Given the description of an element on the screen output the (x, y) to click on. 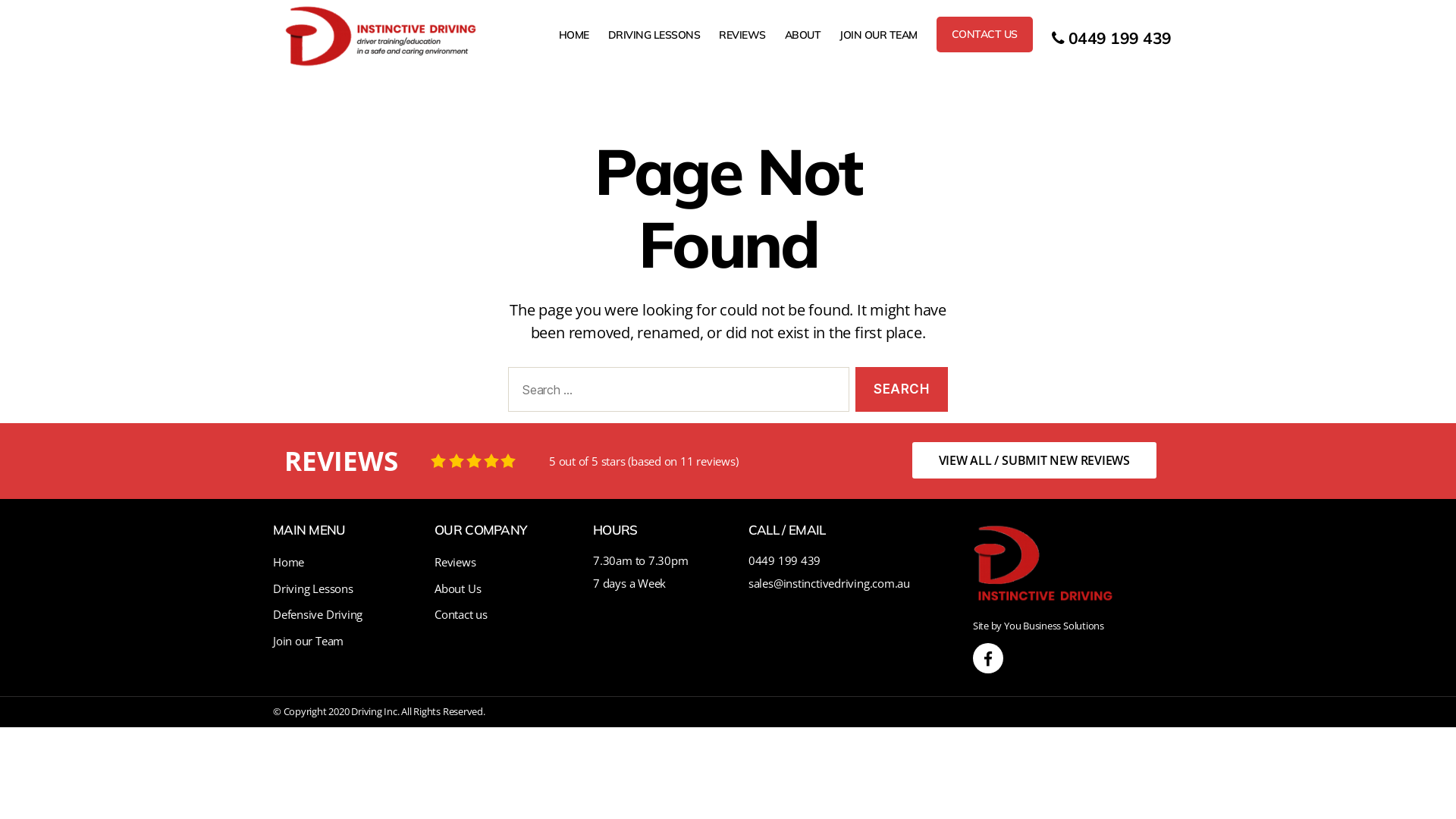
REVIEWS Element type: text (741, 34)
Driving Lessons Element type: text (313, 588)
sales@instinctivedriving.com.au Element type: text (829, 582)
0449 199 439 Element type: text (1111, 37)
ABOUT Element type: text (802, 34)
Contact us Element type: text (460, 613)
JOIN OUR TEAM Element type: text (878, 34)
Reviews Element type: text (454, 561)
Defensive Driving Element type: text (317, 613)
Join our Team Element type: text (308, 640)
HOME Element type: text (573, 34)
0449 199 439 Element type: text (784, 559)
DRIVING LESSONS Element type: text (654, 34)
Search Element type: text (901, 389)
About Us Element type: text (457, 588)
Home Element type: text (288, 561)
VIEW ALL / SUBMIT NEW REVIEWS Element type: text (1034, 460)
CONTACT US Element type: text (984, 34)
You Business Solutions Element type: text (1054, 625)
